Given the description of an element on the screen output the (x, y) to click on. 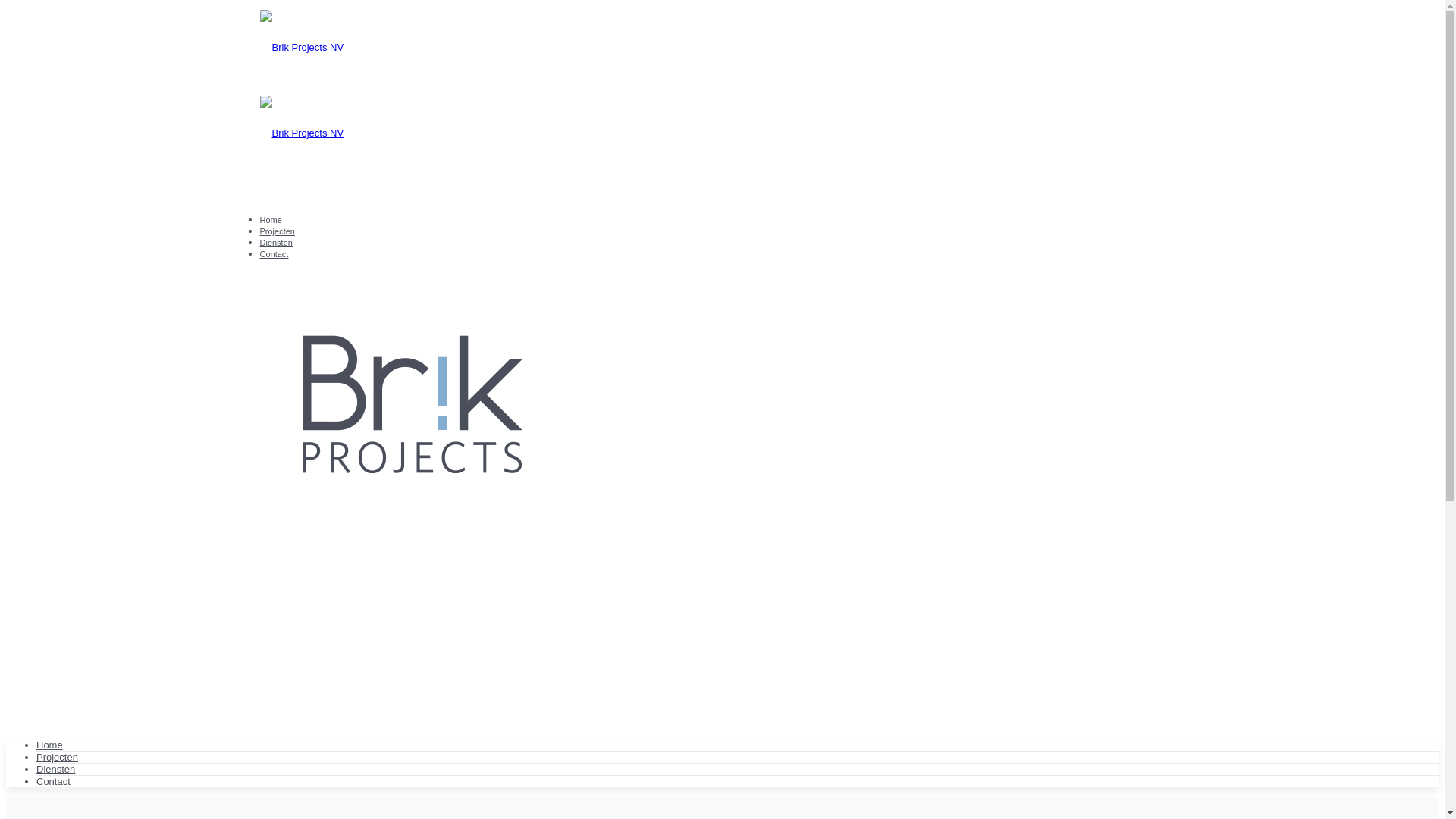
Home Element type: text (270, 219)
Home Element type: text (49, 744)
Diensten Element type: text (275, 242)
Projecten Element type: text (276, 230)
Contact Element type: text (53, 781)
Brik Projects NV
Brik Projects NV Element type: text (721, 90)
Contact Element type: text (273, 253)
Diensten Element type: text (55, 769)
Projecten Element type: text (57, 756)
